Given the description of an element on the screen output the (x, y) to click on. 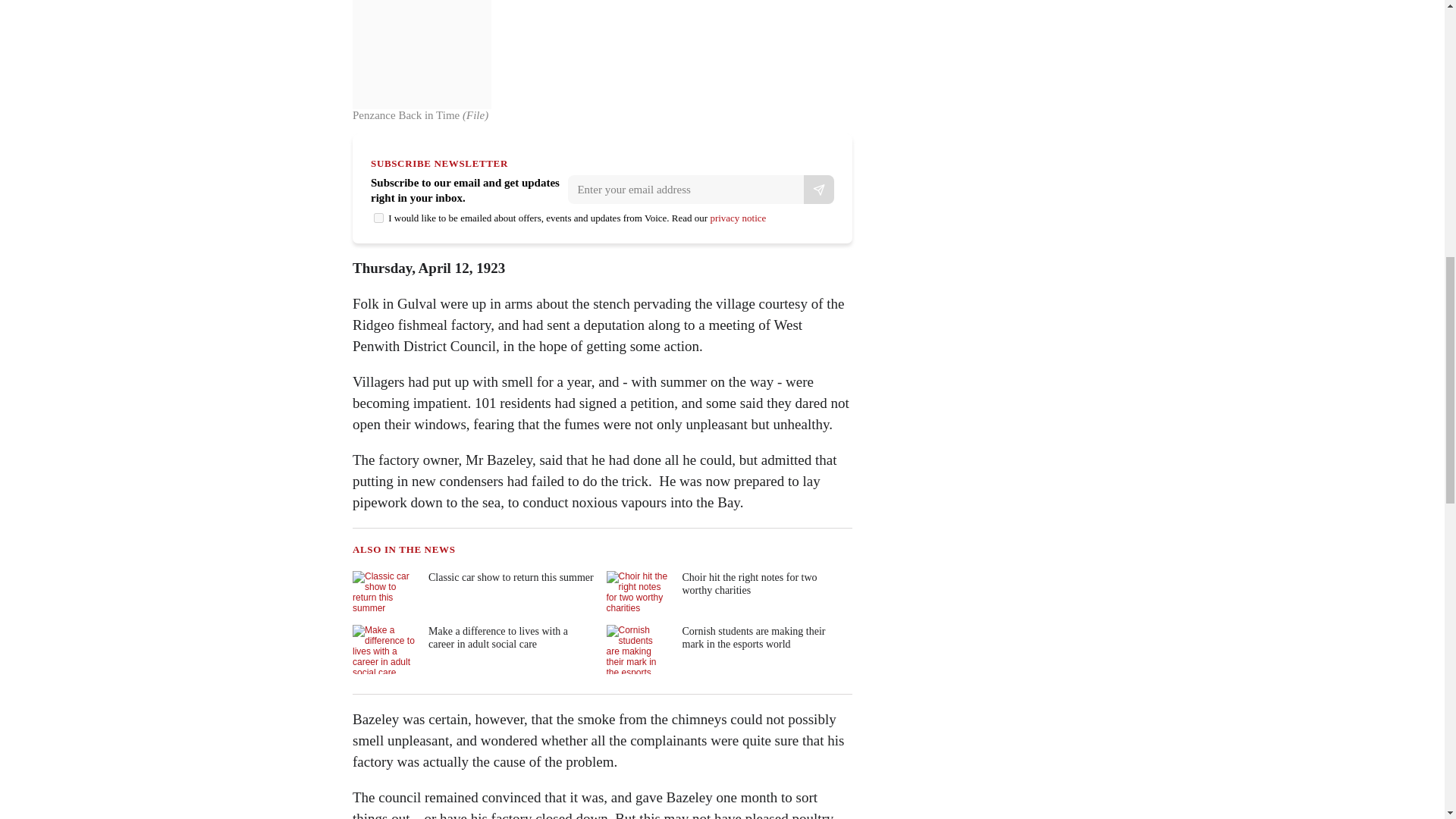
Cornish students are making their mark in the esports world (727, 649)
Classic car show to return this summer (473, 594)
privacy notice (737, 217)
Choir hit the right notes for two worthy charities (727, 594)
on (379, 217)
